Given the description of an element on the screen output the (x, y) to click on. 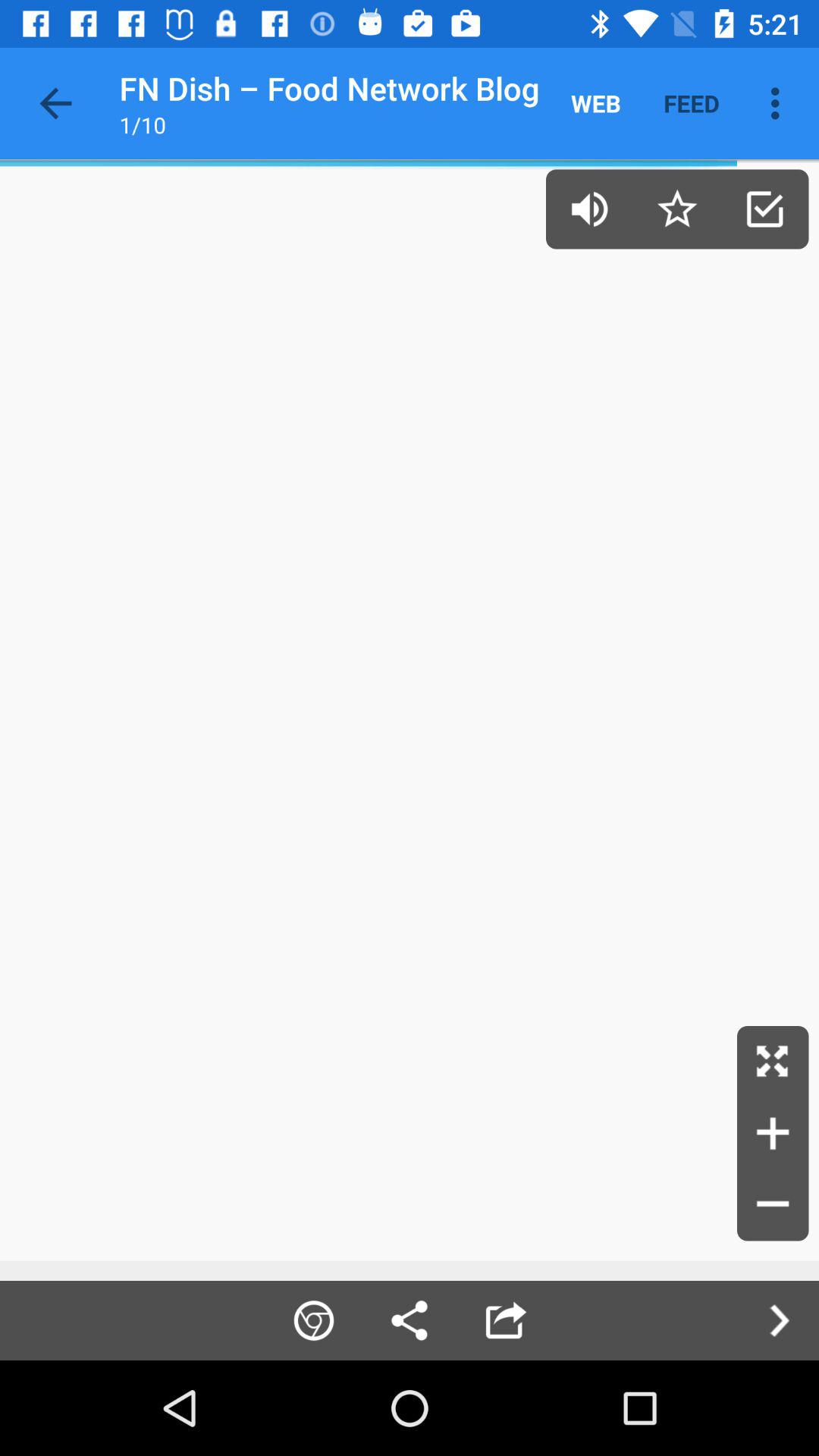
click app next to fn dish food item (55, 103)
